Given the description of an element on the screen output the (x, y) to click on. 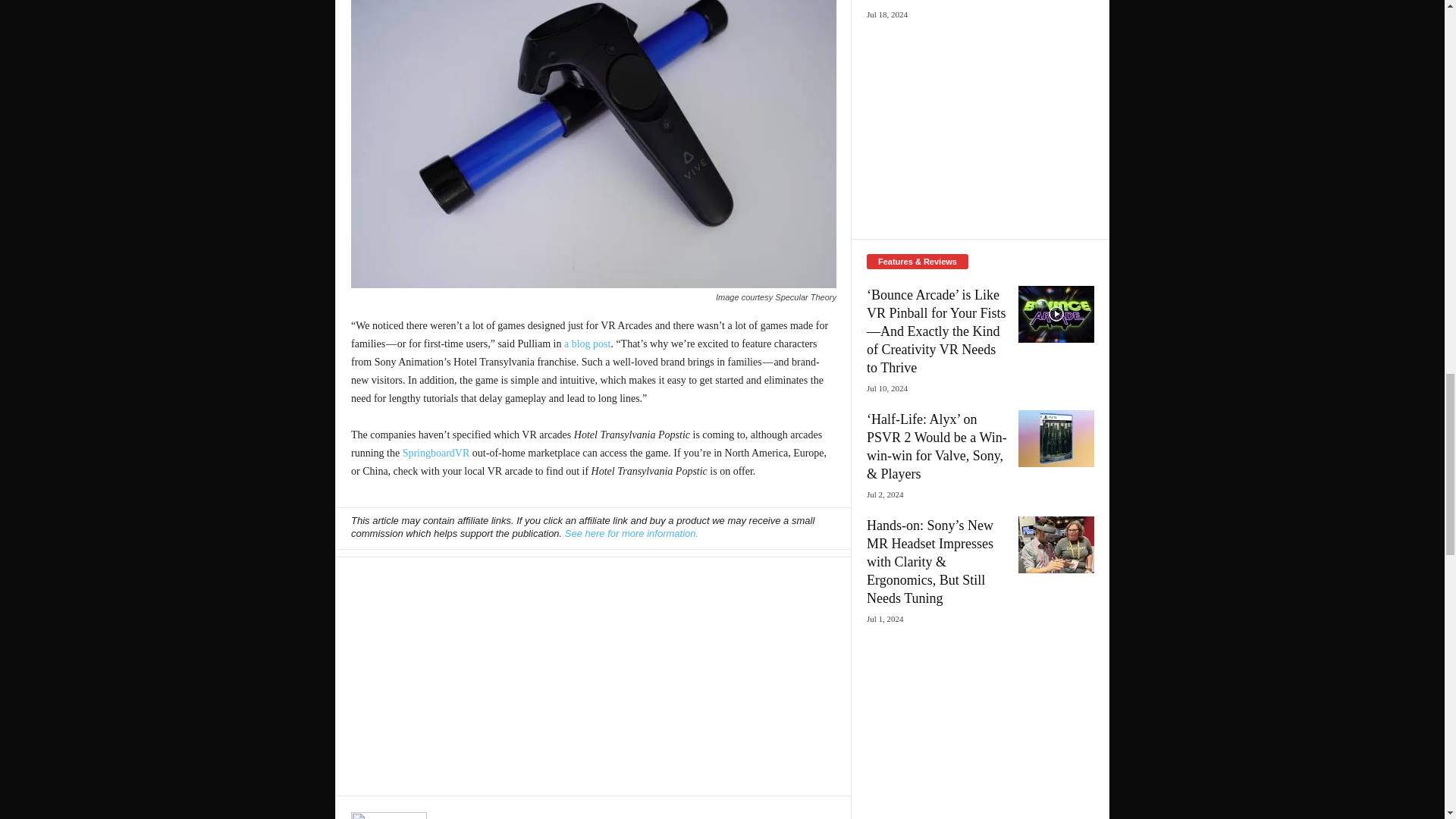
3rd party ad content (593, 667)
